Given the description of an element on the screen output the (x, y) to click on. 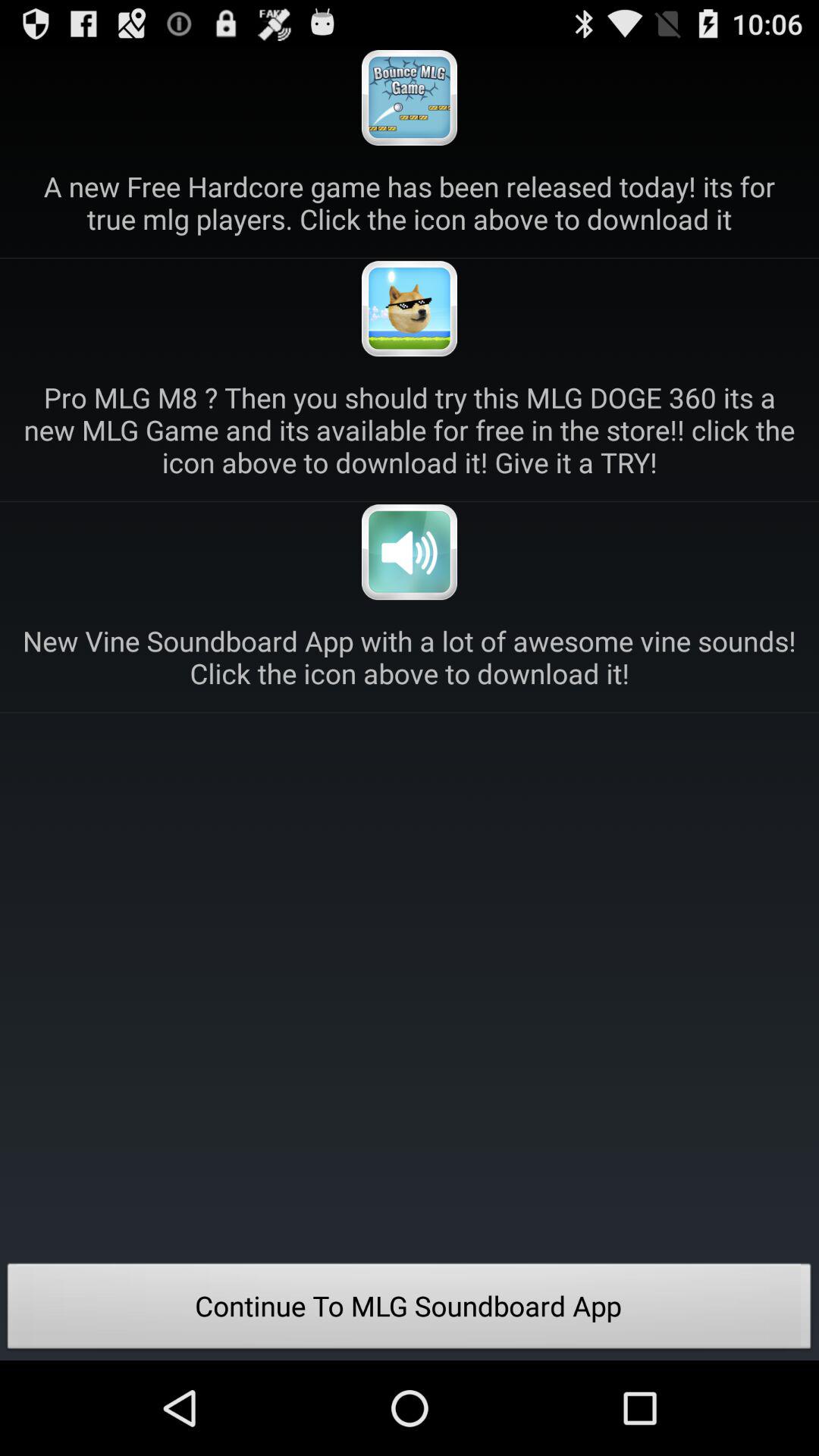
choose the new vine soundboard icon (409, 657)
